Given the description of an element on the screen output the (x, y) to click on. 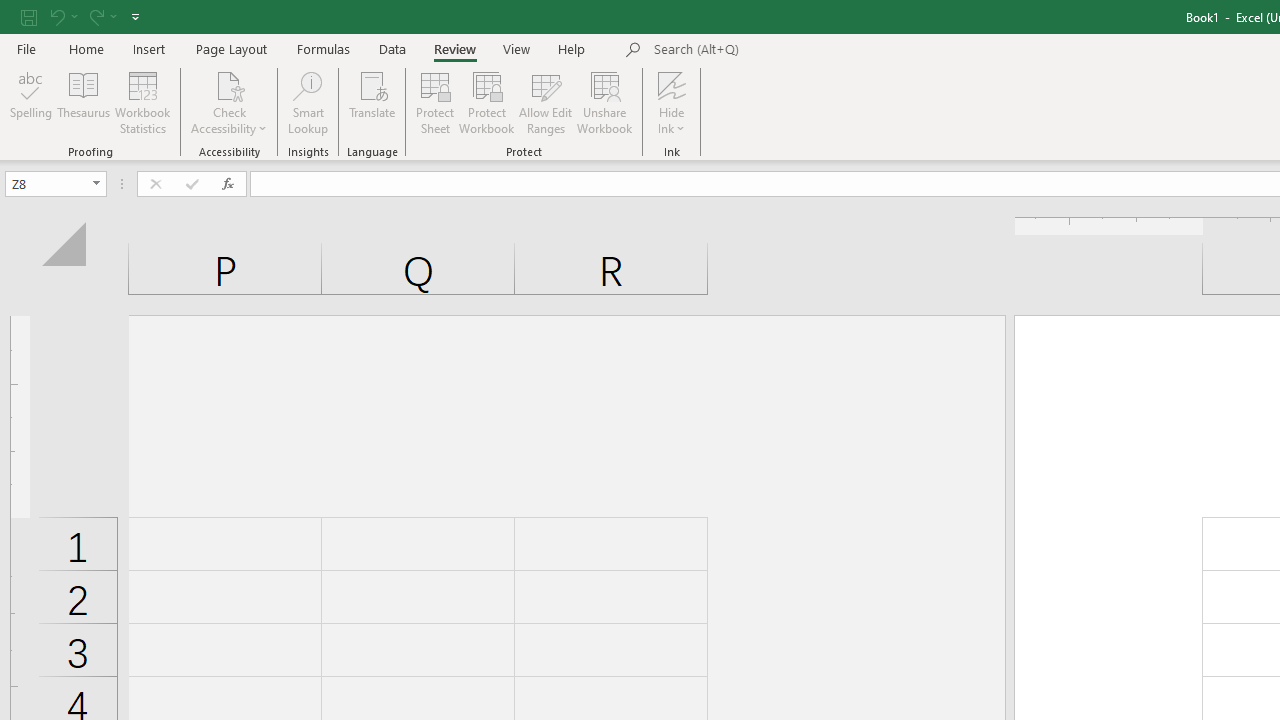
Spelling... (31, 102)
Hide Ink (671, 102)
Check Accessibility (229, 84)
Protect Sheet... (434, 102)
Hide Ink (671, 84)
